Given the description of an element on the screen output the (x, y) to click on. 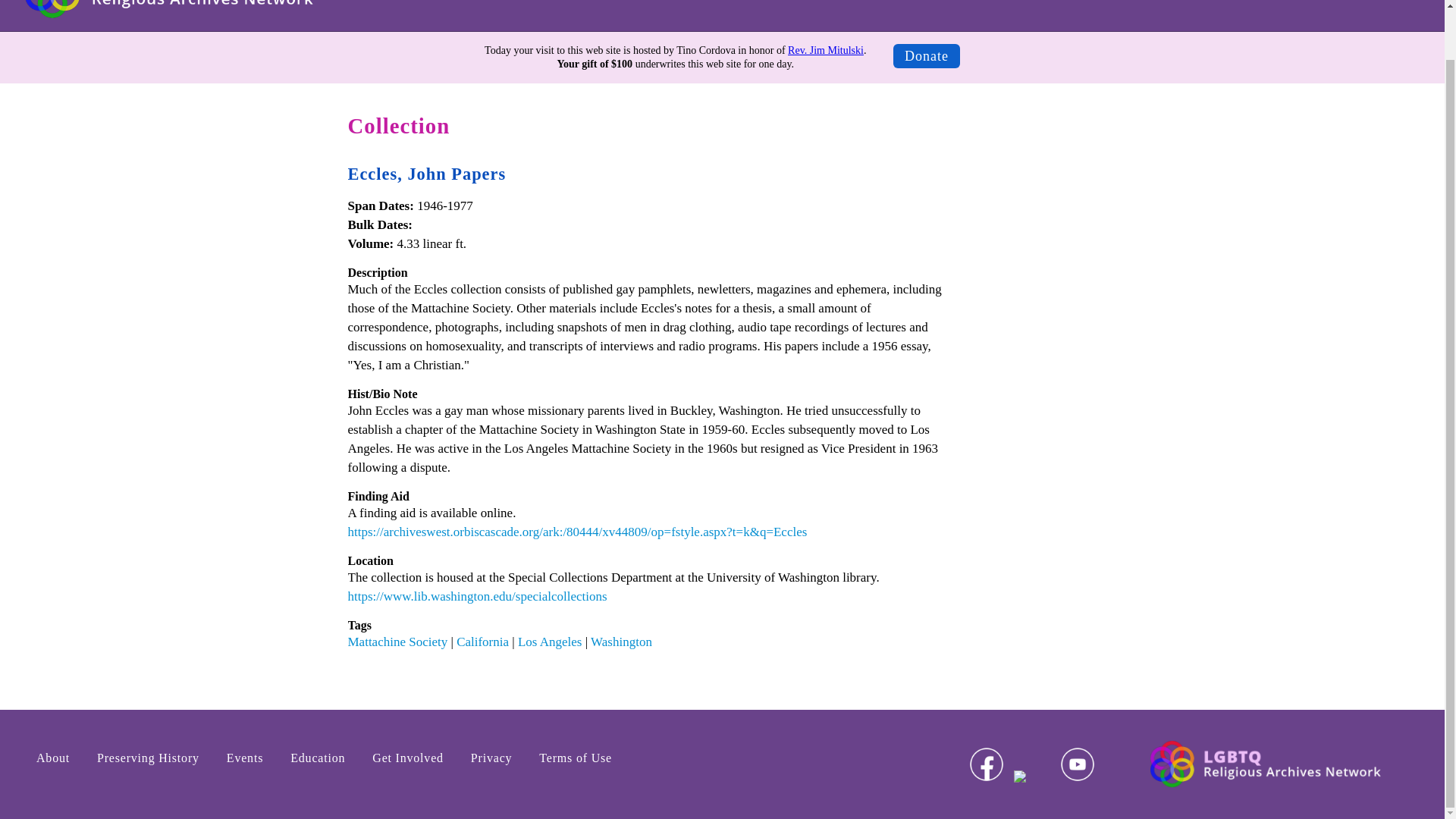
About (976, 3)
search (1401, 0)
California (482, 641)
Preserving History (1072, 3)
Get Involved (1331, 3)
Preserving History (147, 758)
About (52, 758)
Events (1168, 3)
Education (1241, 3)
Mattachine Society (396, 641)
Events (244, 758)
Los Angeles (550, 641)
Rev. Jim Mitulski (825, 50)
Donate (926, 55)
Washington (621, 641)
